Given the description of an element on the screen output the (x, y) to click on. 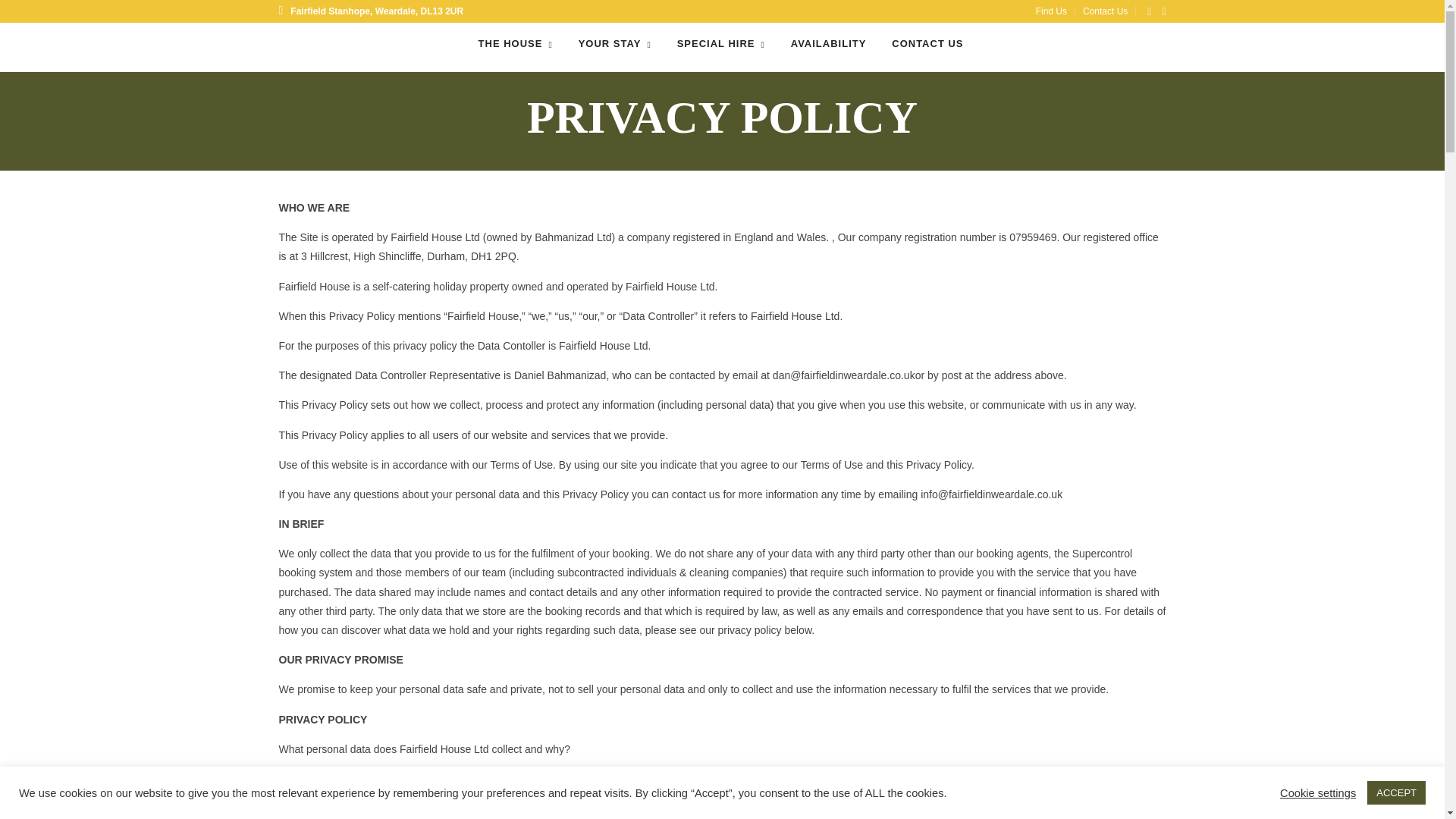
SPECIAL HIRE (720, 44)
Find Us (1055, 10)
CONTACT US (927, 44)
Contact Us (1109, 10)
AVAILABILITY (827, 44)
YOUR STAY (614, 44)
THE HOUSE (515, 44)
